Given the description of an element on the screen output the (x, y) to click on. 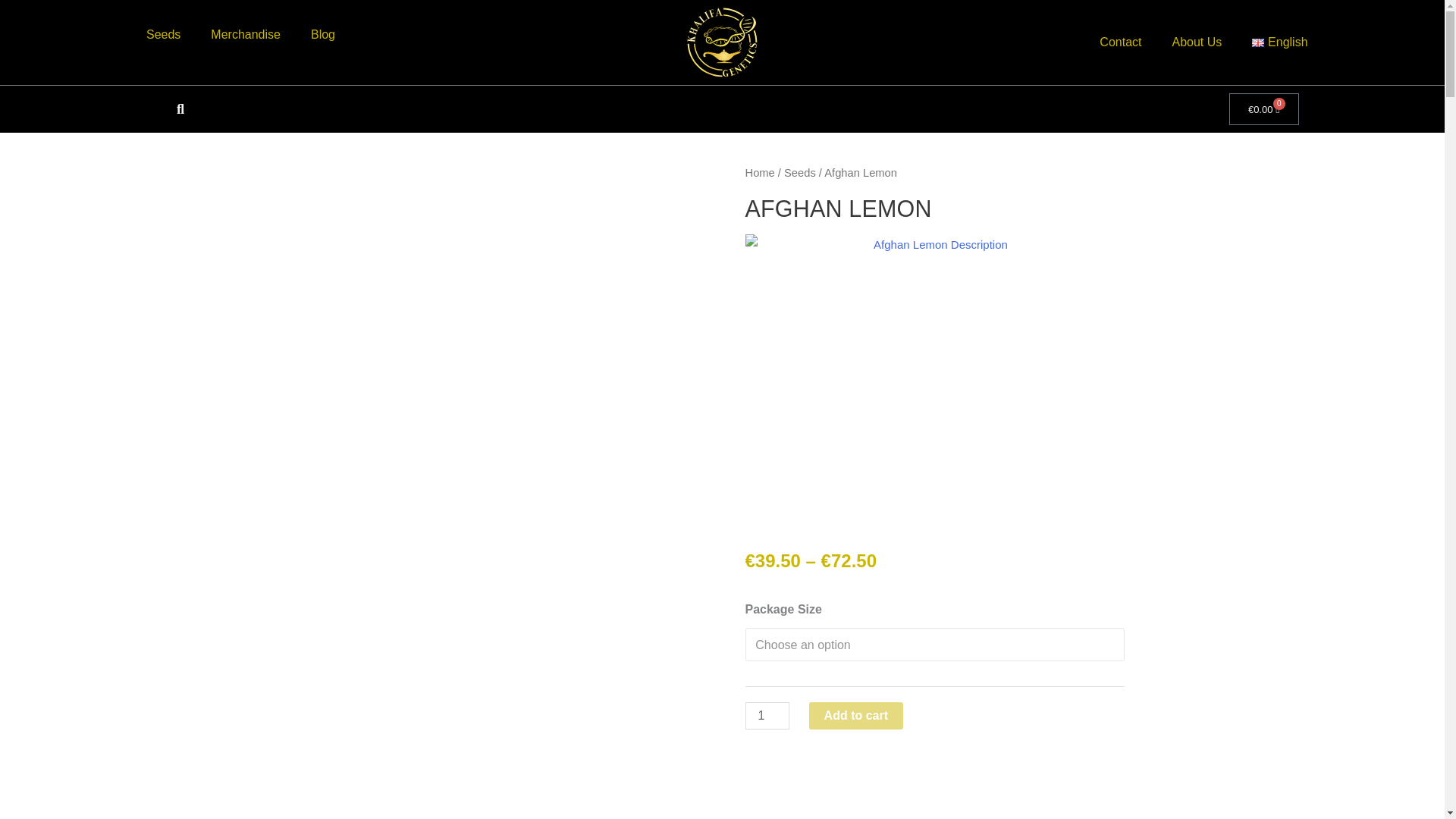
Merchandise (245, 34)
Blog (322, 34)
Seeds (163, 34)
1 (766, 715)
